Given the description of an element on the screen output the (x, y) to click on. 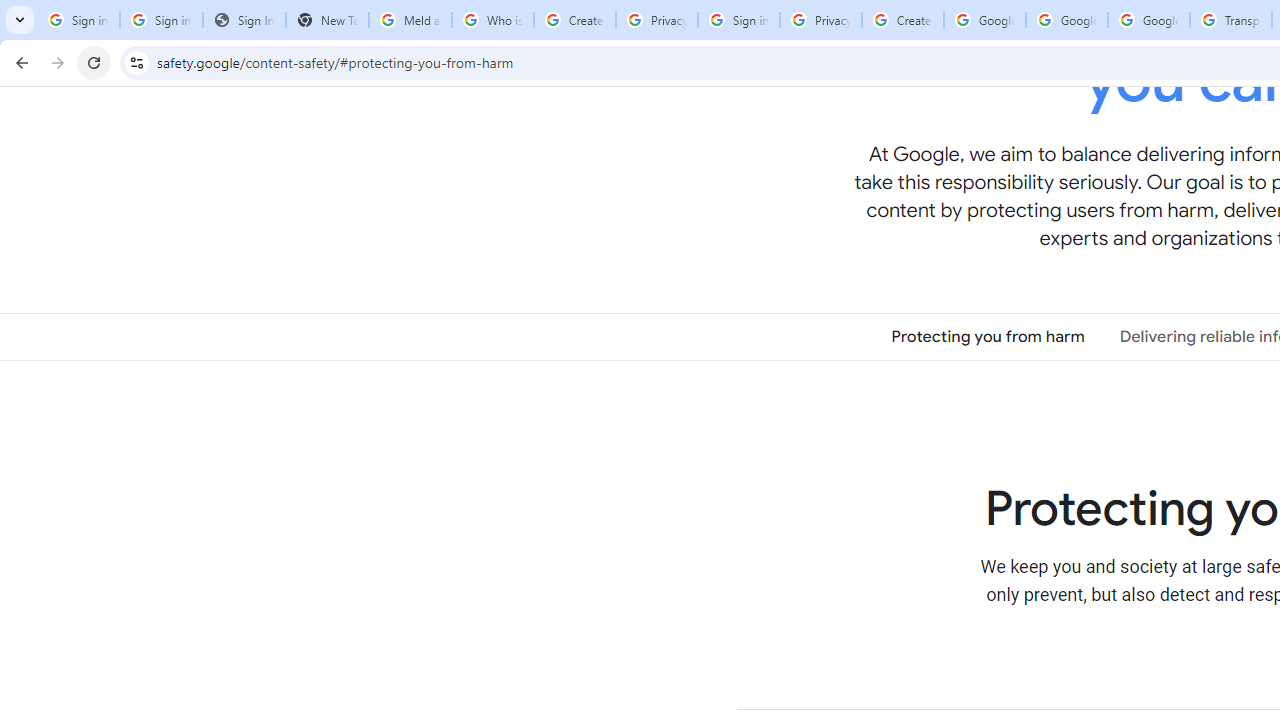
Tools (127, 19)
